Given the description of an element on the screen output the (x, y) to click on. 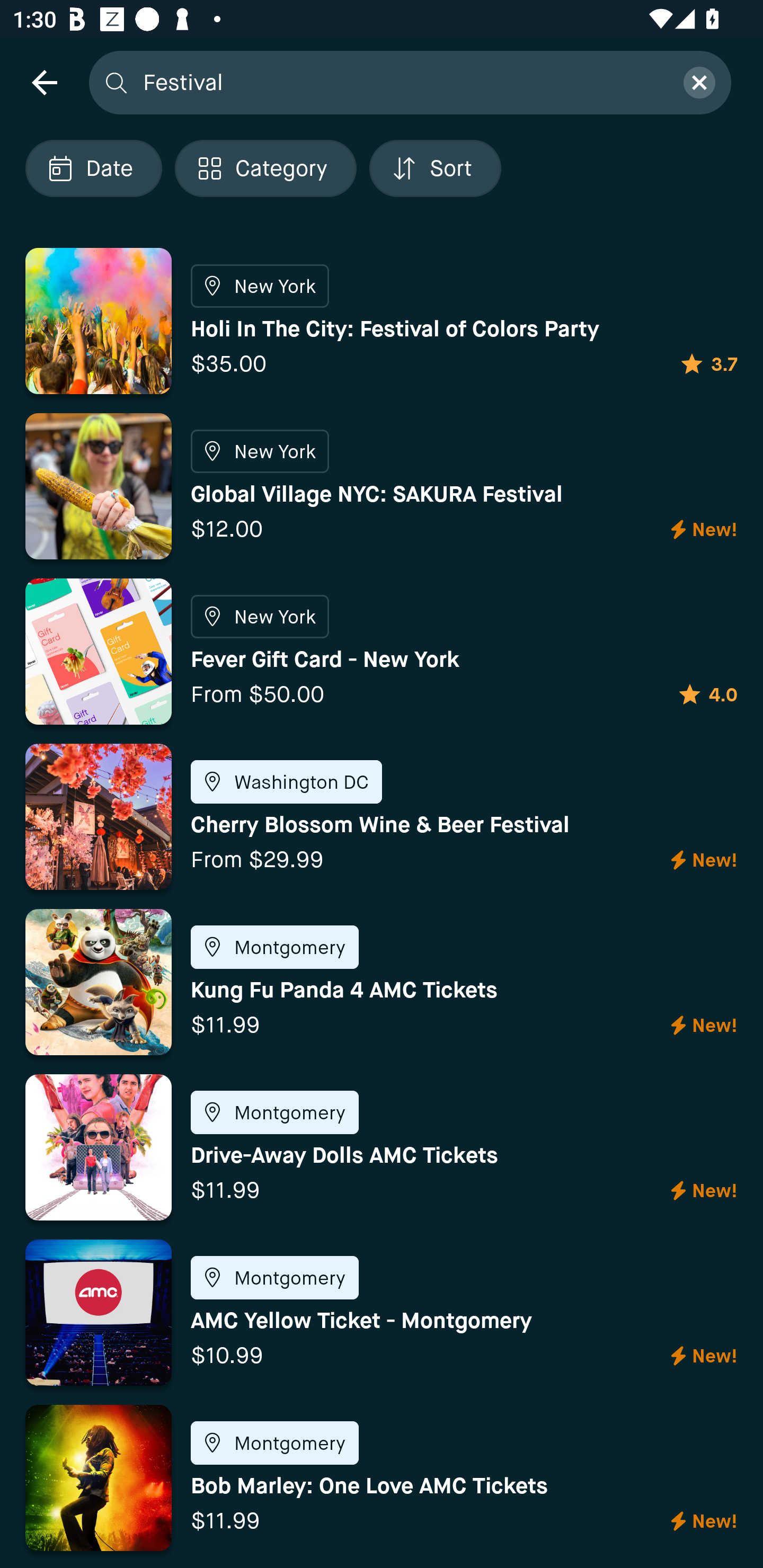
navigation icon (44, 81)
Festival (402, 81)
Localized description Date (93, 168)
Localized description Category (265, 168)
Localized description Sort (435, 168)
